Given the description of an element on the screen output the (x, y) to click on. 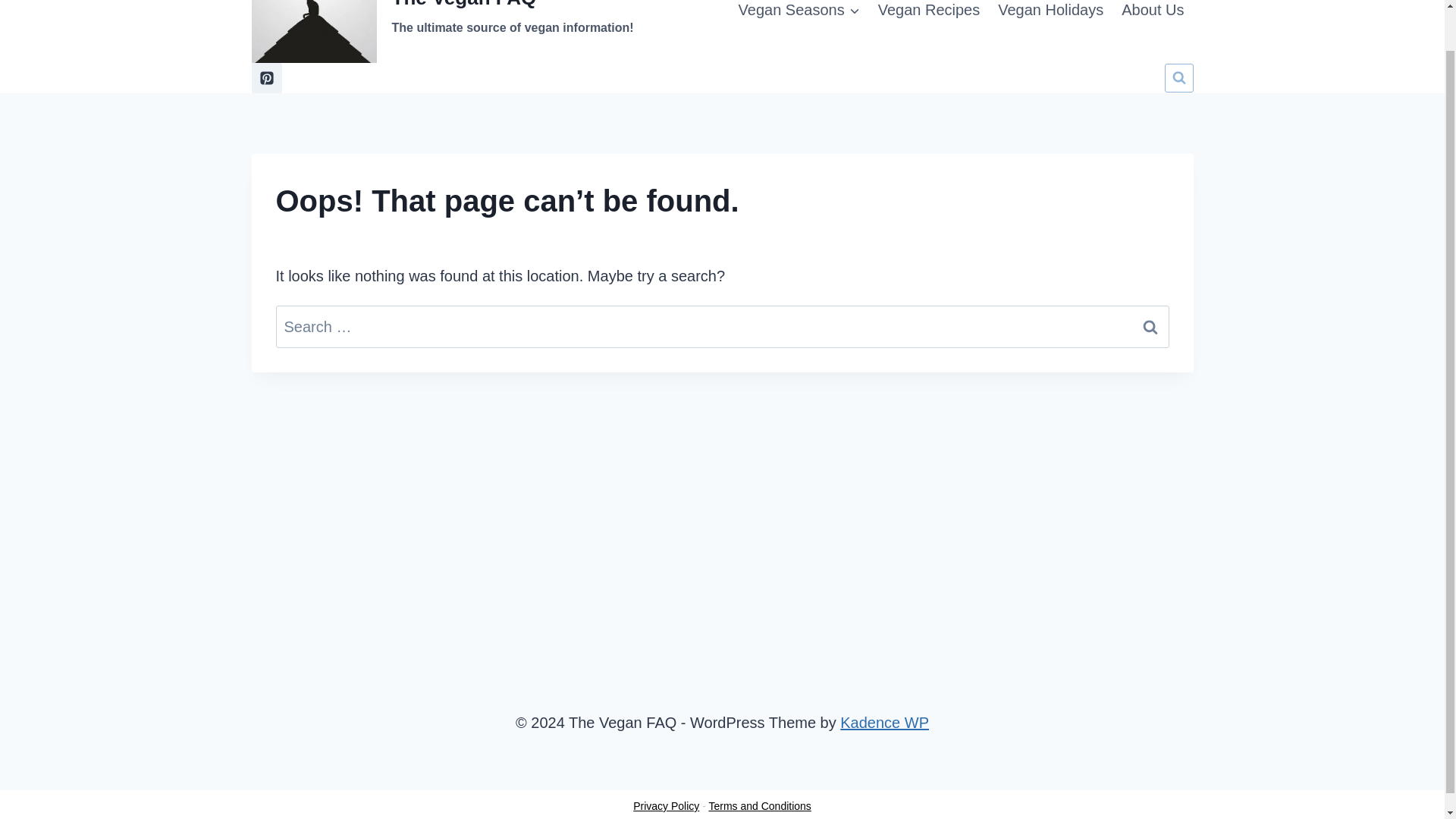
Vegan Recipes (929, 16)
Vegan Holidays (1050, 16)
Terms and Conditions (758, 806)
Search (1150, 326)
Search (1150, 326)
Search (1150, 326)
Kadence WP (442, 31)
Vegan Seasons (884, 722)
Privacy Policy (799, 16)
About Us (665, 806)
